Given the description of an element on the screen output the (x, y) to click on. 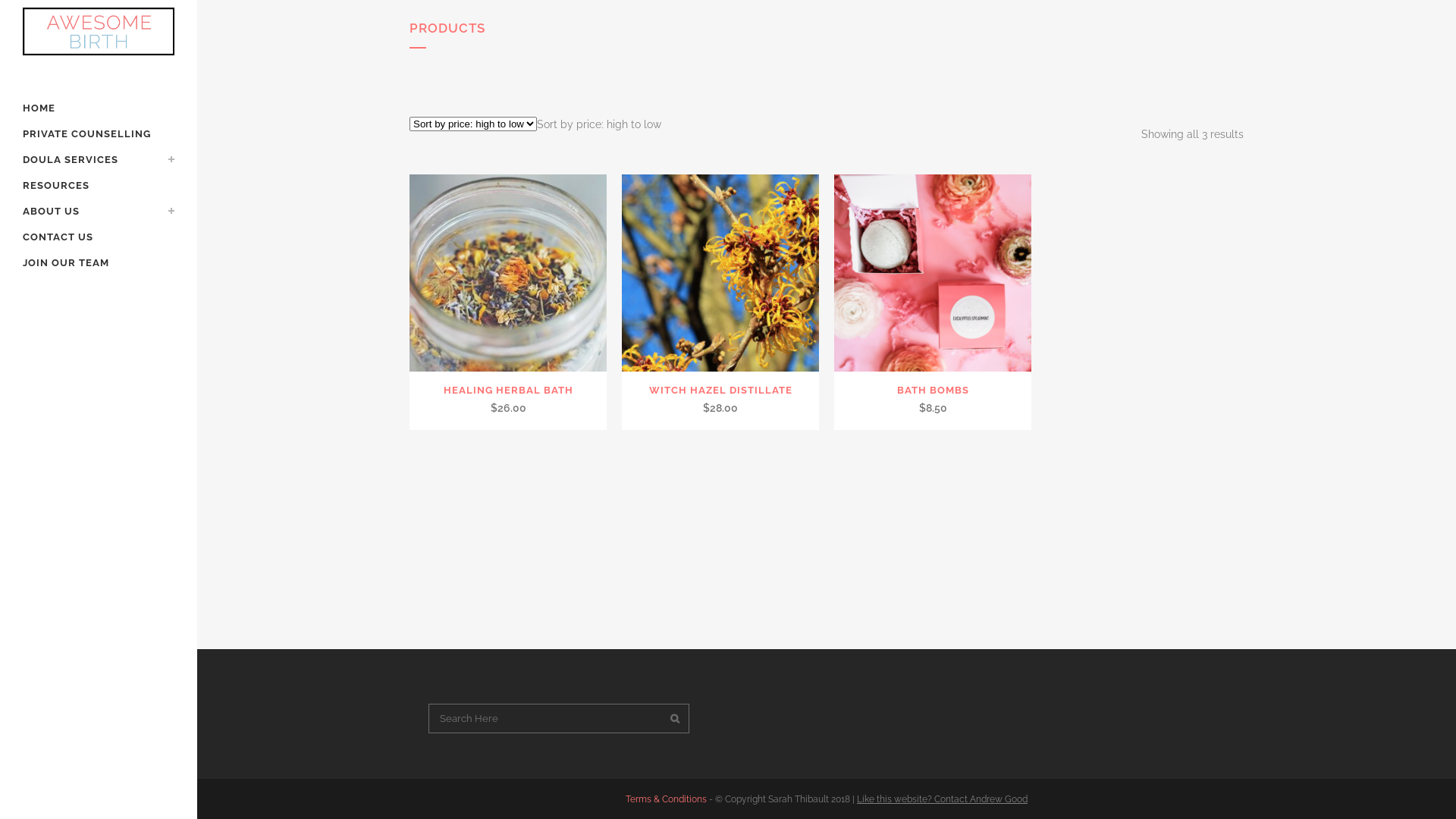
WITCH HAZEL DISTILLATE
$28.00 Element type: text (720, 399)
Terms & Conditions Element type: text (665, 798)
BATH BOMBS
$8.50 Element type: text (932, 399)
HEALING HERBAL BATH
$26.00 Element type: text (507, 399)
PRIVATE COUNSELLING Element type: text (98, 134)
Like this website? Contact Andrew Good Element type: text (941, 798)
RESOURCES Element type: text (98, 185)
DOULA SERVICES Element type: text (98, 159)
HOME Element type: text (98, 108)
ABOUT US Element type: text (98, 211)
JOIN OUR TEAM Element type: text (98, 263)
CONTACT US Element type: text (98, 237)
